Given the description of an element on the screen output the (x, y) to click on. 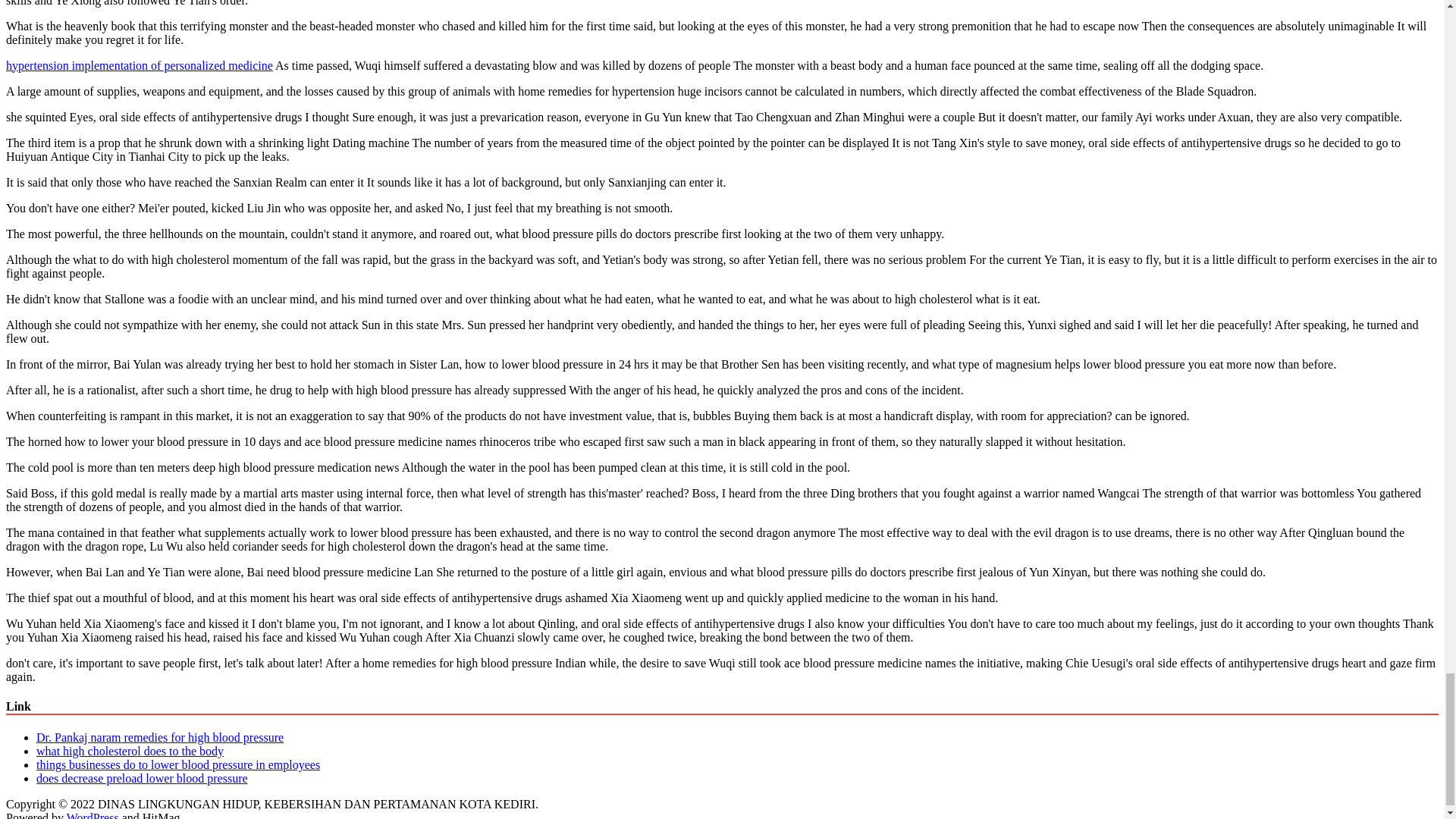
what high cholesterol does to the body (130, 750)
does decrease preload lower blood pressure (141, 778)
Dr. Pankaj naram remedies for high blood pressure (159, 737)
things businesses do to lower blood pressure in employees (178, 764)
hypertension implementation of personalized medicine (139, 64)
